Given the description of an element on the screen output the (x, y) to click on. 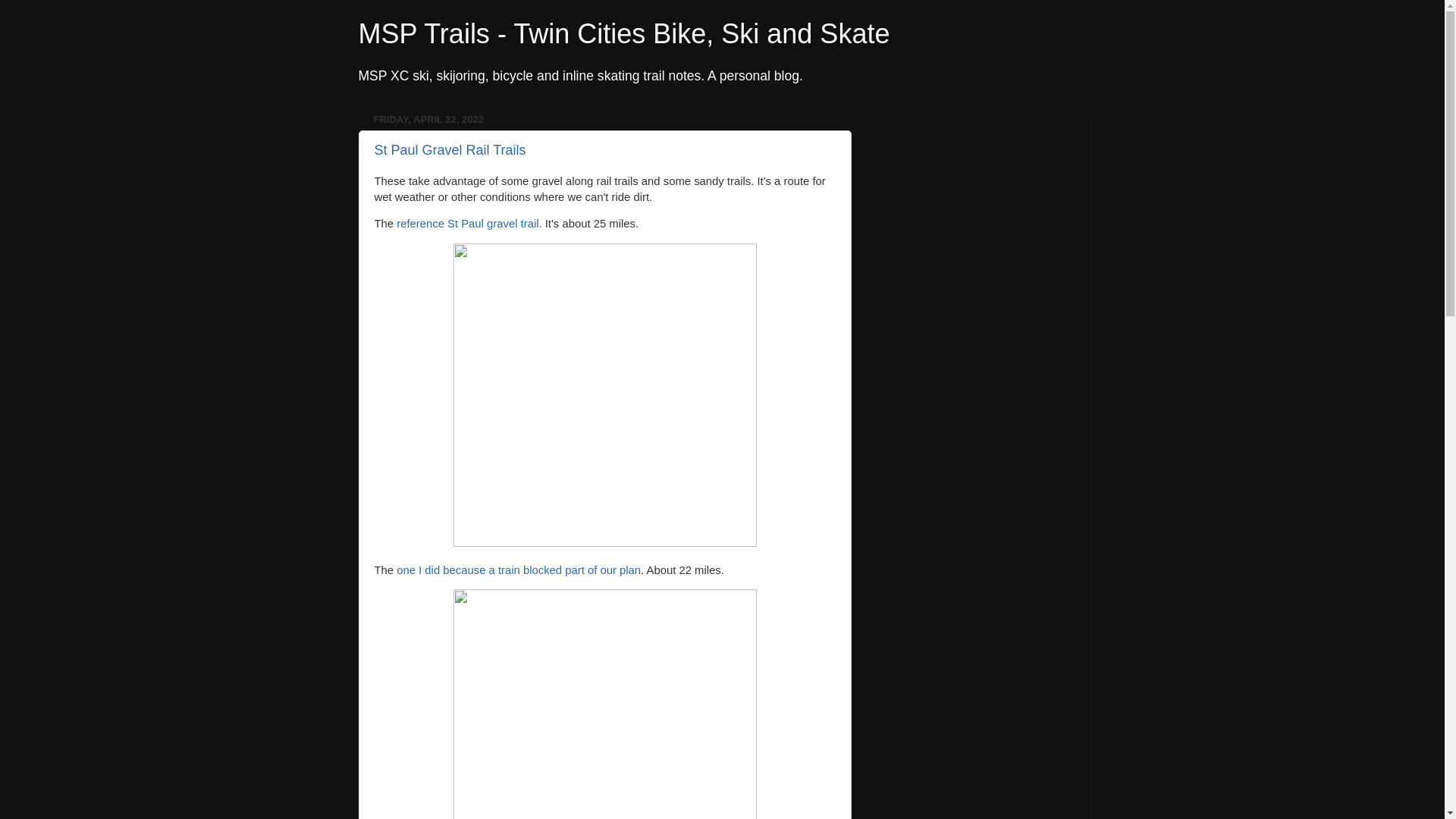
St Paul Gravel Rail Trails (449, 150)
MSP Trails - Twin Cities Bike, Ski and Skate (623, 33)
reference St Paul gravel trail. (468, 223)
one I did because a train blocked part of our plan (518, 570)
